Given the description of an element on the screen output the (x, y) to click on. 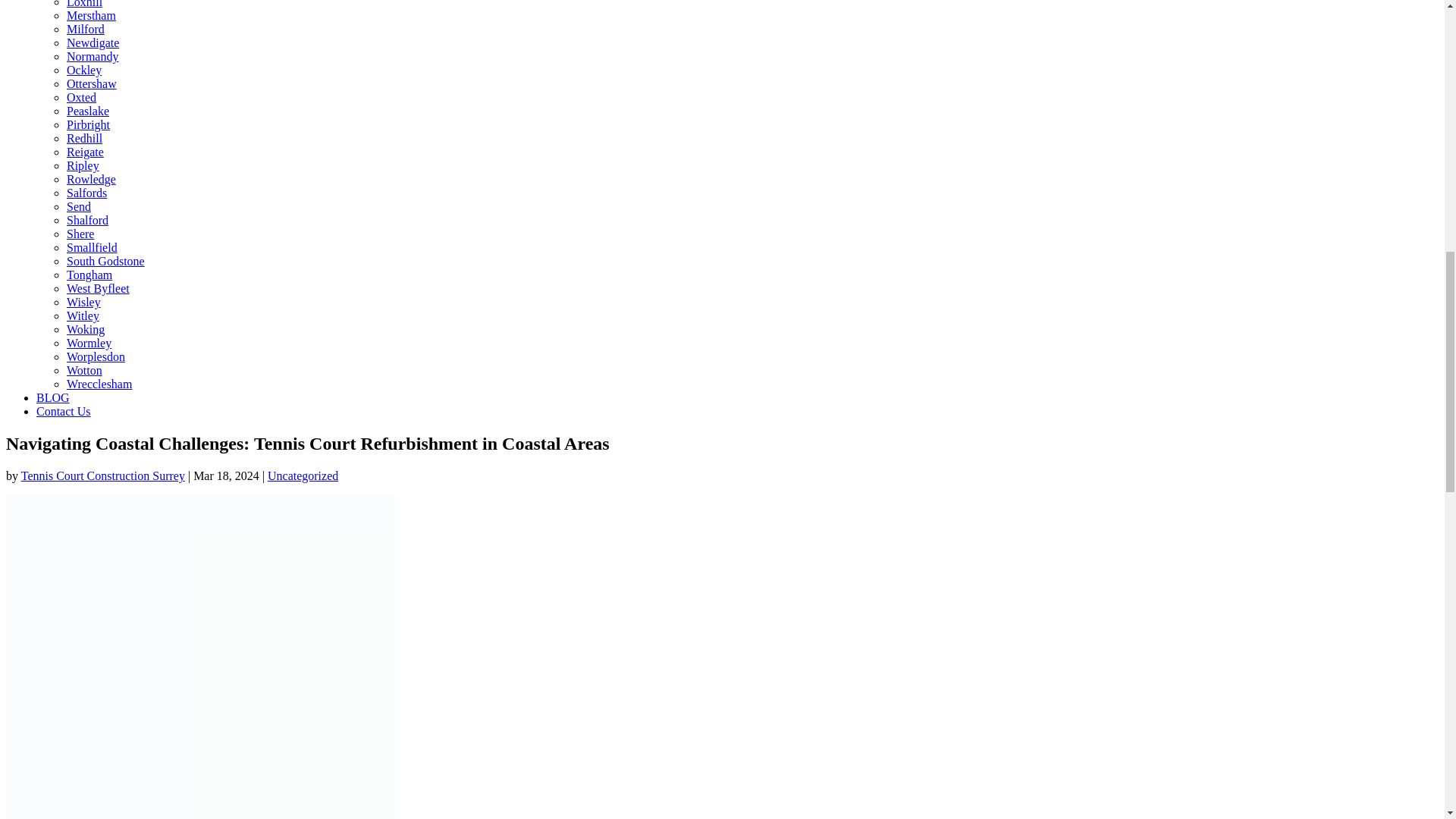
Posts by Tennis Court Construction Surrey (102, 475)
